Given the description of an element on the screen output the (x, y) to click on. 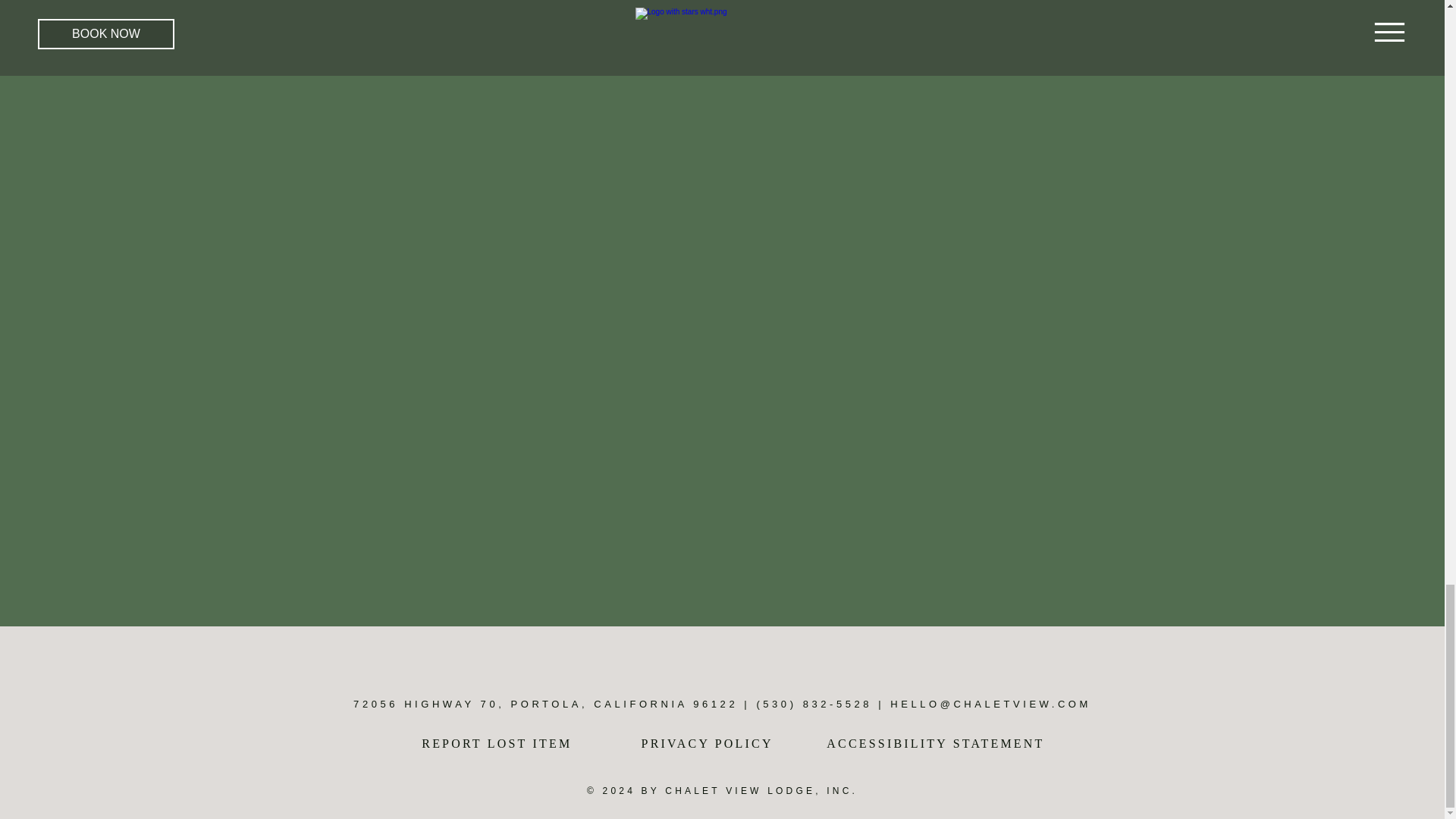
ACCESSIBILITY STATEMENT (935, 743)
PRIVACY POLICY      (721, 743)
    REPORT LOST ITEM (485, 743)
